Given the description of an element on the screen output the (x, y) to click on. 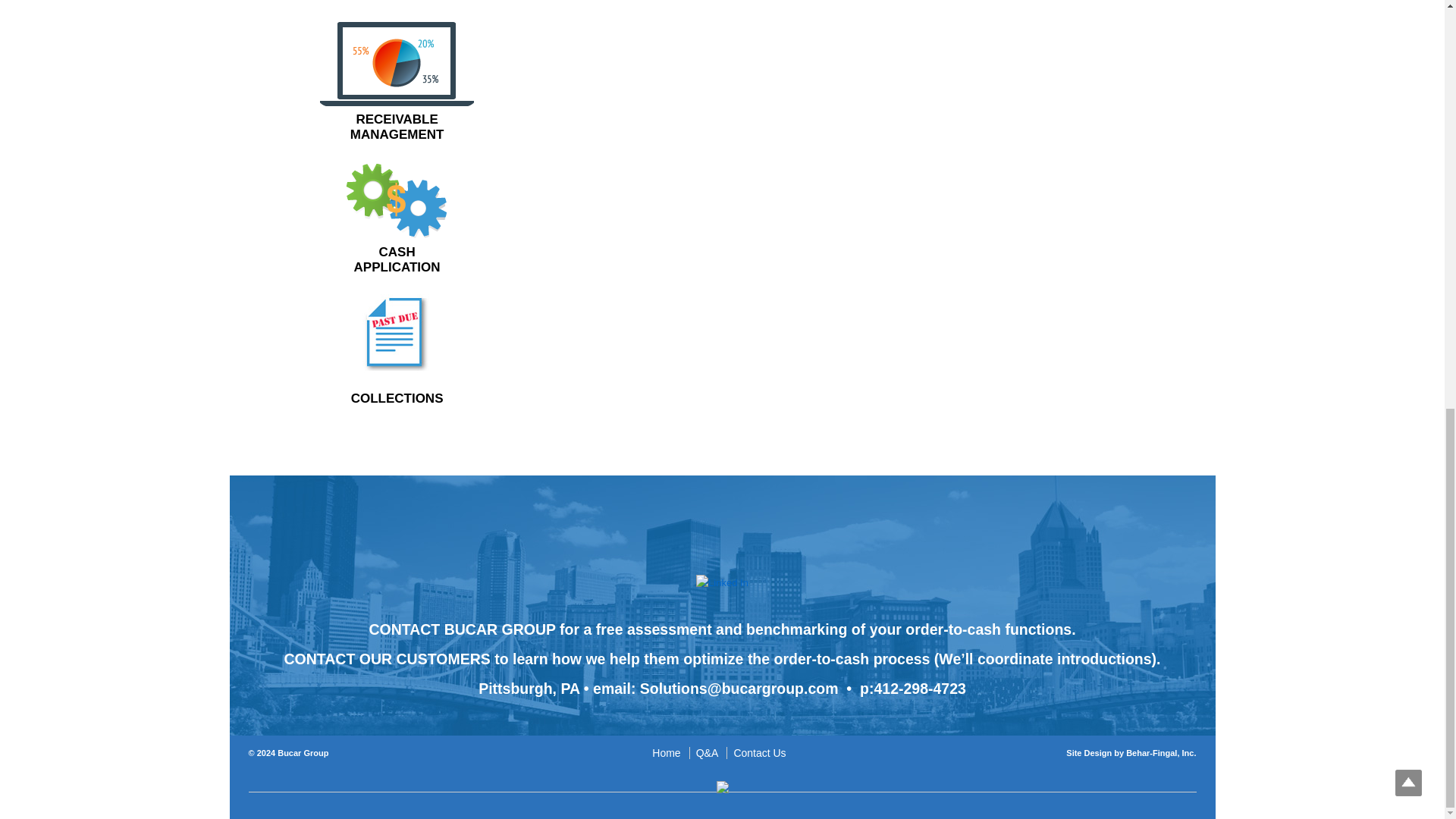
Behar-Fingal, Inc. (397, 82)
Contact Us (1160, 752)
Bucar Group (396, 219)
Home (759, 752)
Bucar Group (302, 752)
BILLING (668, 752)
